Given the description of an element on the screen output the (x, y) to click on. 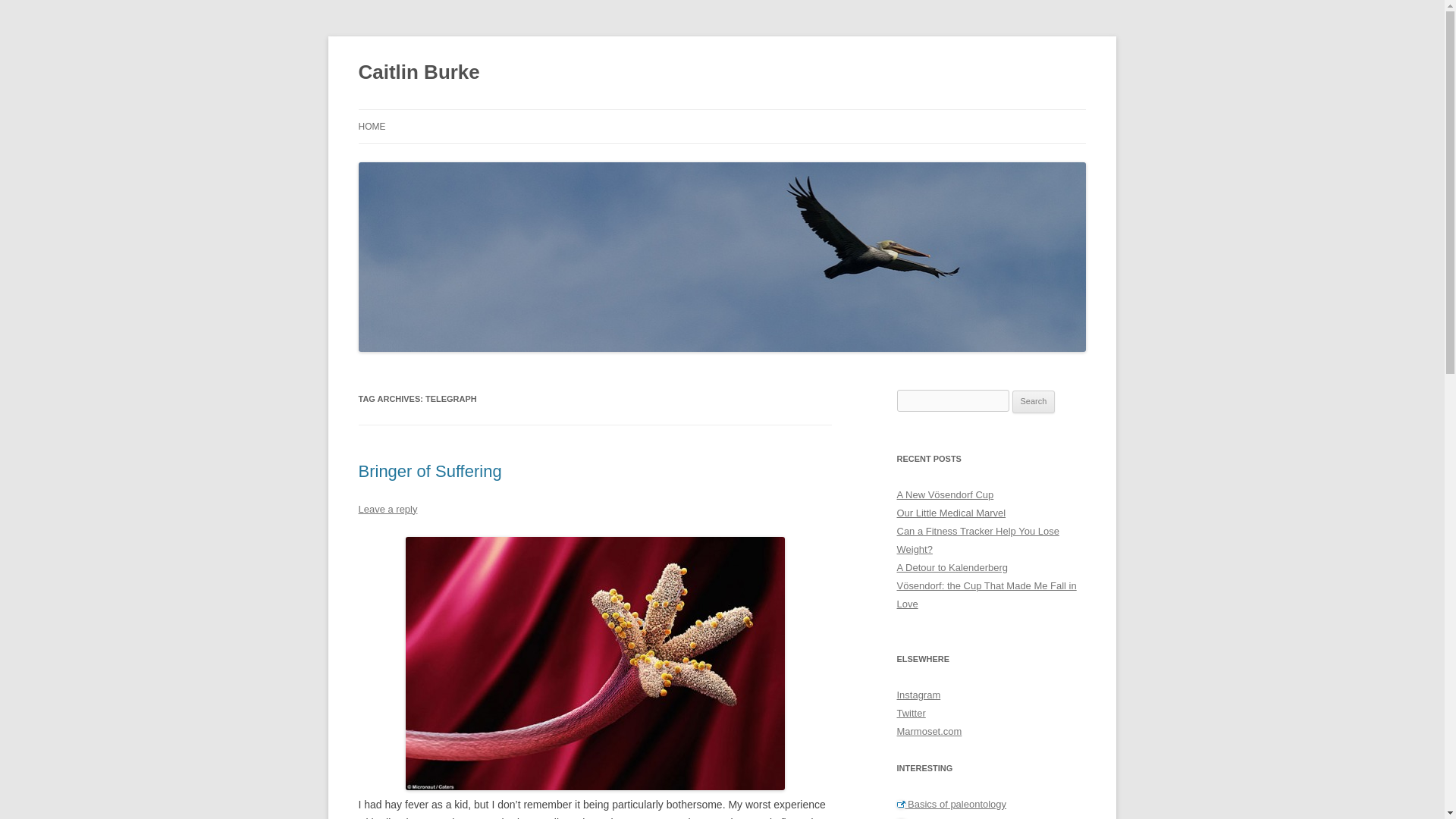
Caitlin Burke (418, 72)
Can a Fitness Tracker Help You Lose Weight? (977, 540)
Search (1033, 401)
Search (1033, 401)
Case study in false balance in journalism (991, 817)
Bringer of Suffering (429, 470)
Twitter (910, 713)
Pollen grains on a Geranium (595, 663)
A Detour to Kalenderberg (951, 567)
Leave a reply (387, 509)
Our Little Medical Marvel (951, 512)
Instagram (918, 695)
Caitlin Burke (418, 72)
Marmoset.com (928, 731)
Skip to content (757, 113)
